Given the description of an element on the screen output the (x, y) to click on. 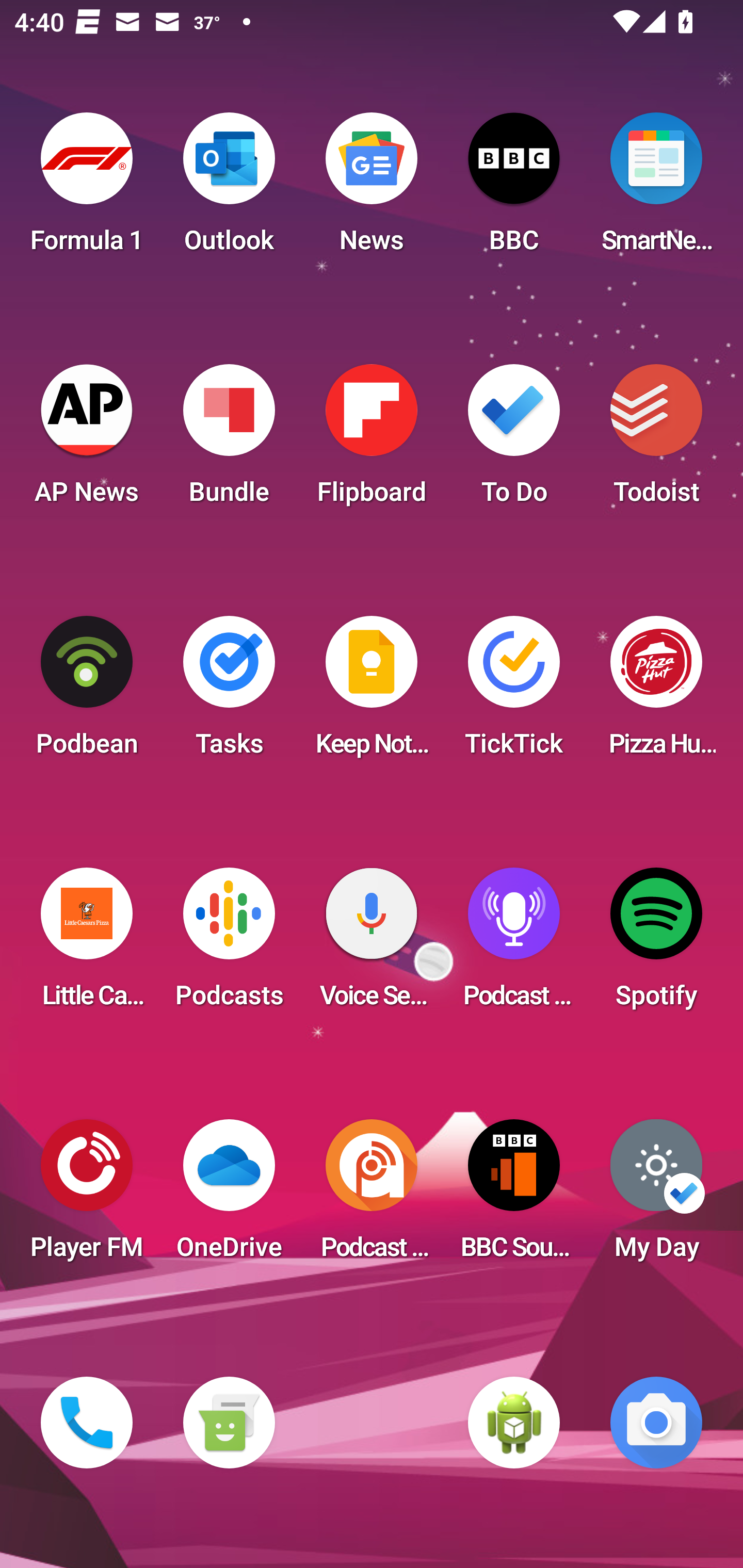
Formula 1 (86, 188)
Outlook (228, 188)
News (371, 188)
BBC (513, 188)
SmartNews (656, 188)
AP News (86, 440)
Bundle (228, 440)
Flipboard (371, 440)
To Do (513, 440)
Todoist (656, 440)
Podbean (86, 692)
Tasks (228, 692)
Keep Notes (371, 692)
TickTick (513, 692)
Pizza Hut HK & Macau (656, 692)
Little Caesars Pizza (86, 943)
Podcasts (228, 943)
Voice Search (371, 943)
Podcast Player (513, 943)
Spotify (656, 943)
Player FM (86, 1195)
OneDrive (228, 1195)
Podcast Addict (371, 1195)
BBC Sounds (513, 1195)
My Day (656, 1195)
Phone (86, 1422)
Messaging (228, 1422)
WebView Browser Tester (513, 1422)
Camera (656, 1422)
